Given the description of an element on the screen output the (x, y) to click on. 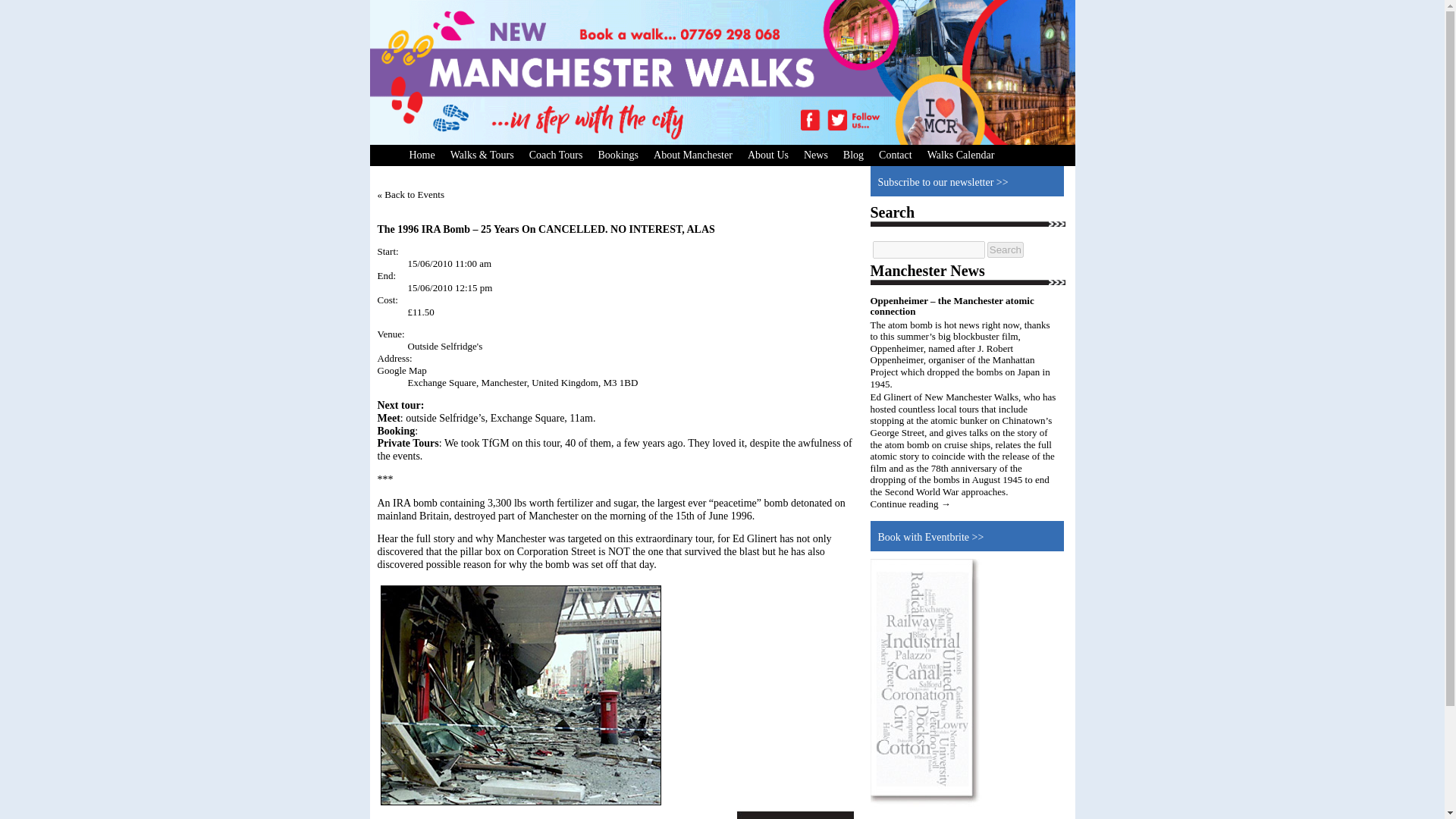
Coach Tours (556, 155)
Bookings (617, 155)
Walks Calendar (961, 155)
Click to view a Google Map (401, 369)
Search (1005, 249)
Home (421, 155)
Contact (895, 155)
Blog (852, 155)
Search (1005, 249)
Google Map (401, 369)
About Us (767, 155)
About Manchester (692, 155)
News (815, 155)
